Given the description of an element on the screen output the (x, y) to click on. 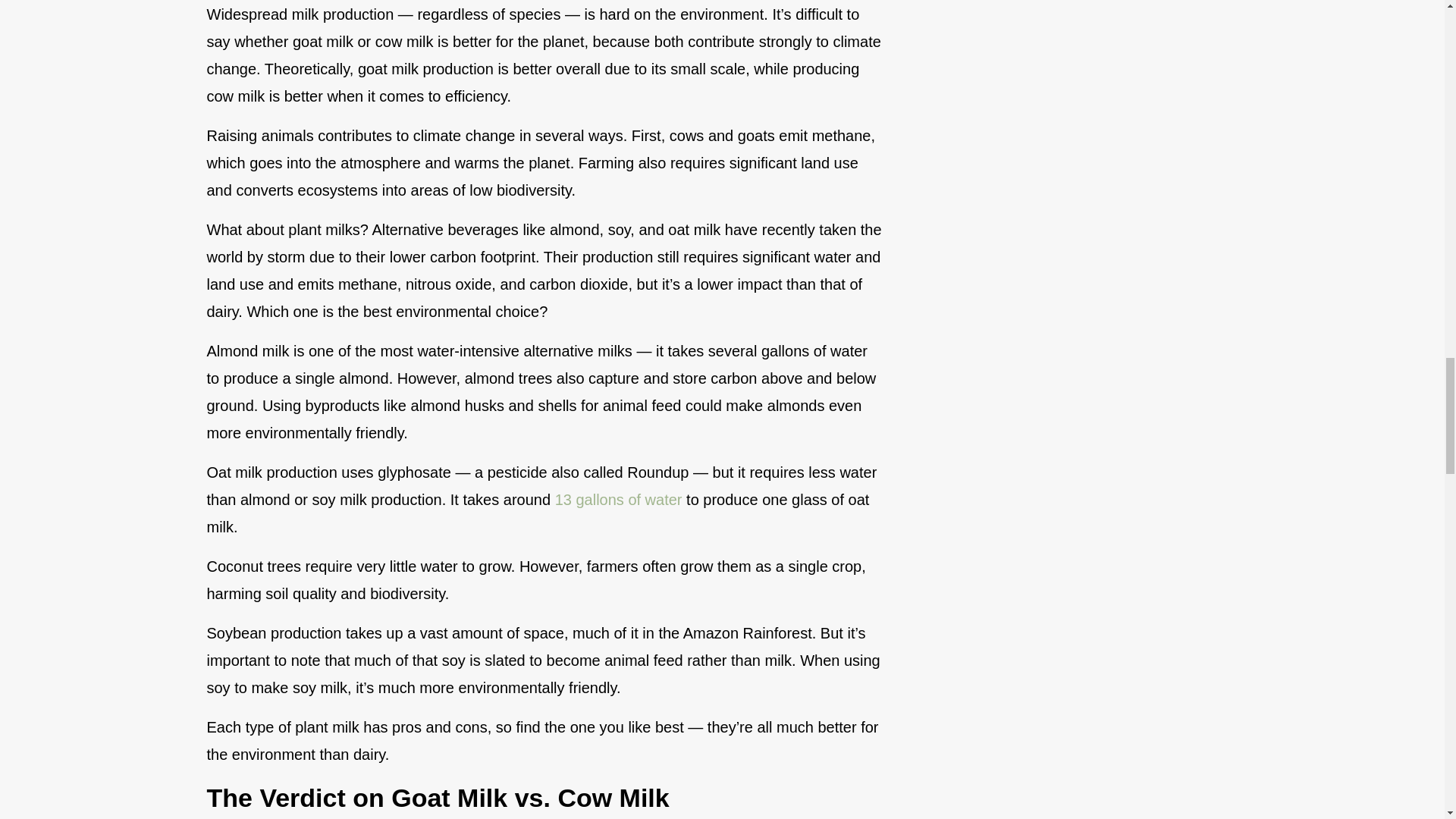
13 gallons of water (618, 499)
